Given the description of an element on the screen output the (x, y) to click on. 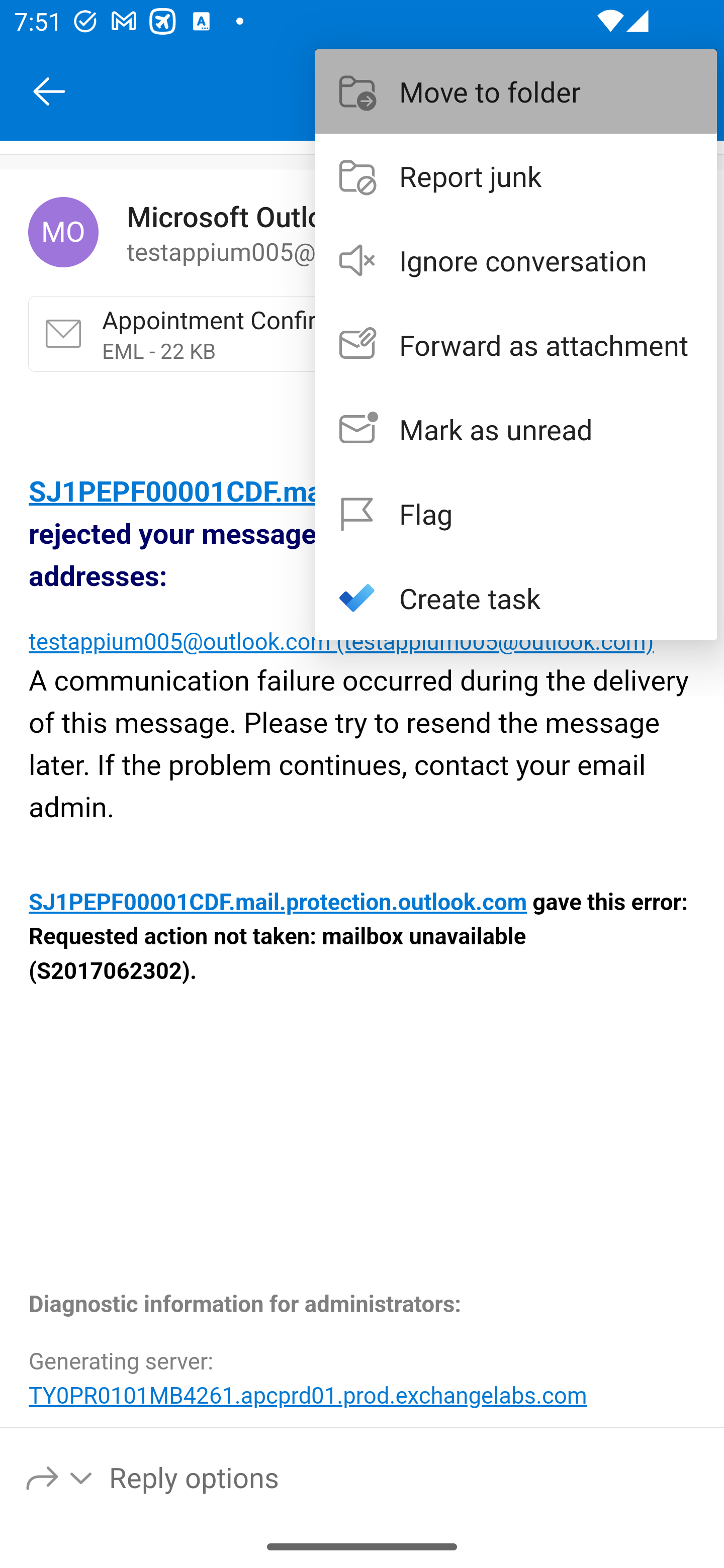
Move to folder (515, 90)
Report junk (515, 175)
Ignore conversation (515, 259)
Forward as attachment (515, 344)
Mark as unread (515, 429)
Flag (515, 513)
Create task (515, 597)
